Given the description of an element on the screen output the (x, y) to click on. 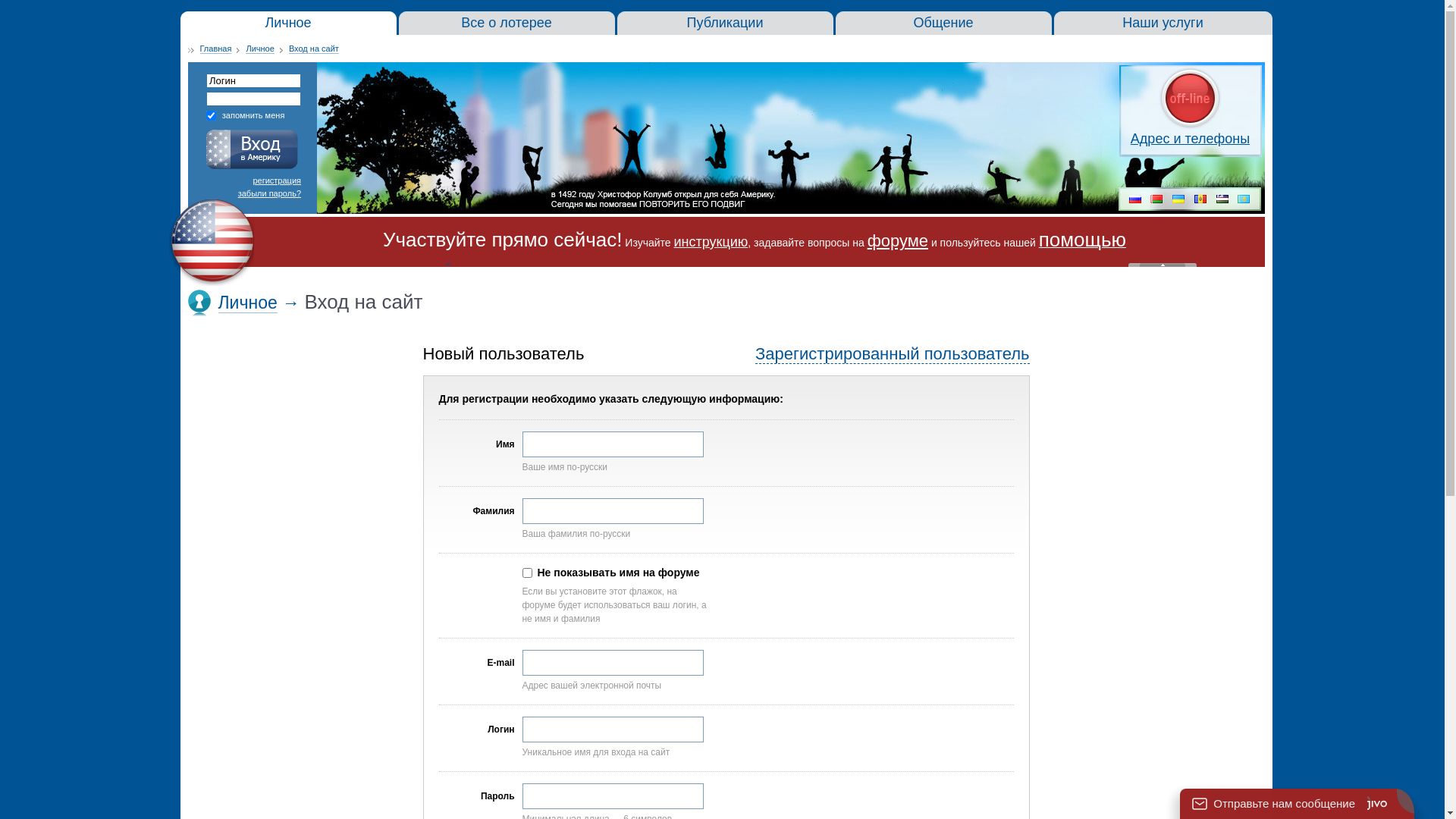
ua Element type: hover (1178, 200)
ru Element type: hover (1135, 200)
uz Element type: hover (1222, 200)
by Element type: hover (1156, 200)
md Element type: hover (1200, 200)
kz Element type: hover (1243, 200)
